Given the description of an element on the screen output the (x, y) to click on. 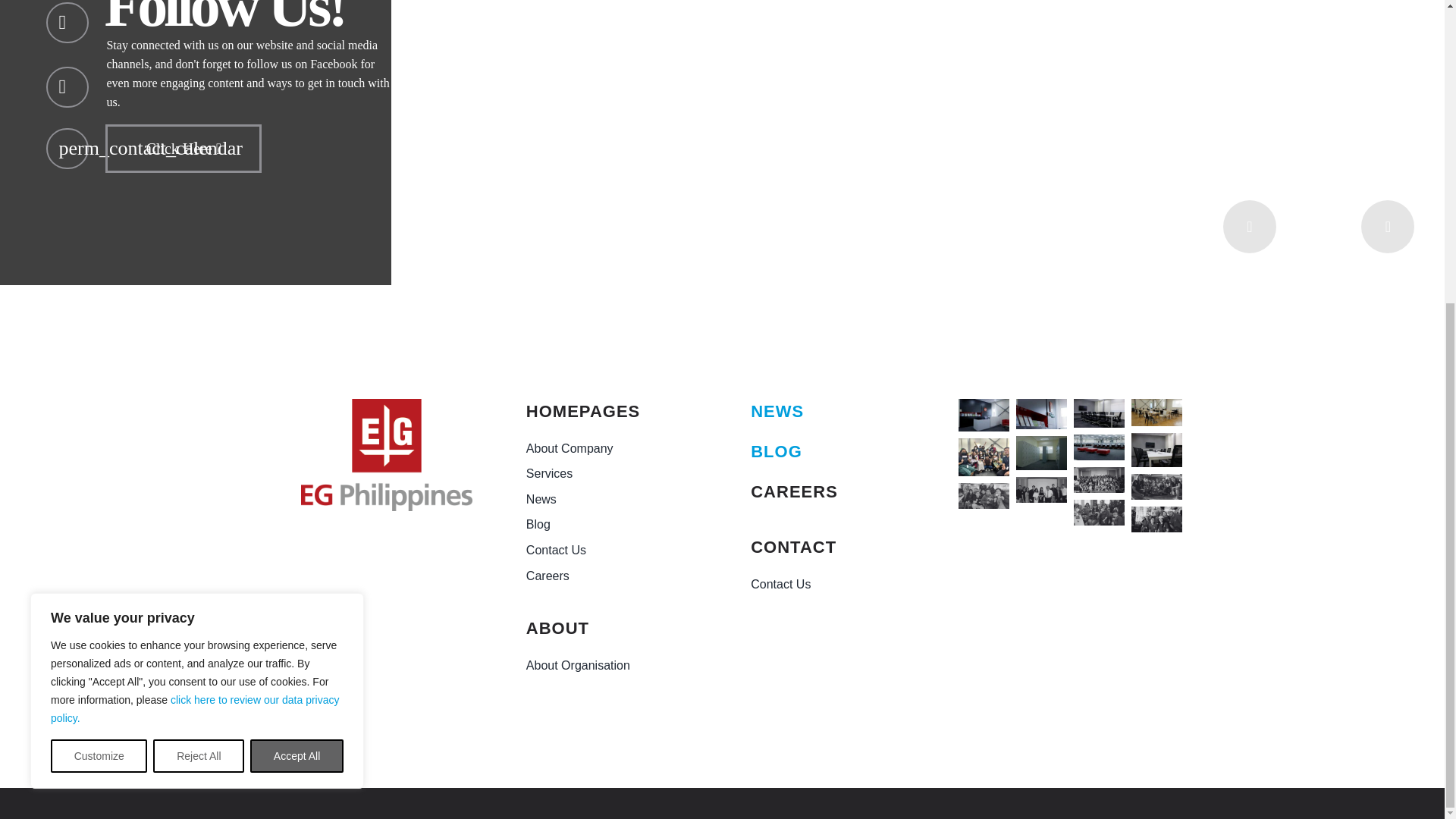
Reject All (198, 282)
click here to review our data privacy policy. (194, 235)
6 (1156, 486)
6 (1099, 479)
Customize (98, 282)
Accept All (296, 282)
10 (983, 495)
9 (1099, 512)
5 (1041, 489)
